Given the description of an element on the screen output the (x, y) to click on. 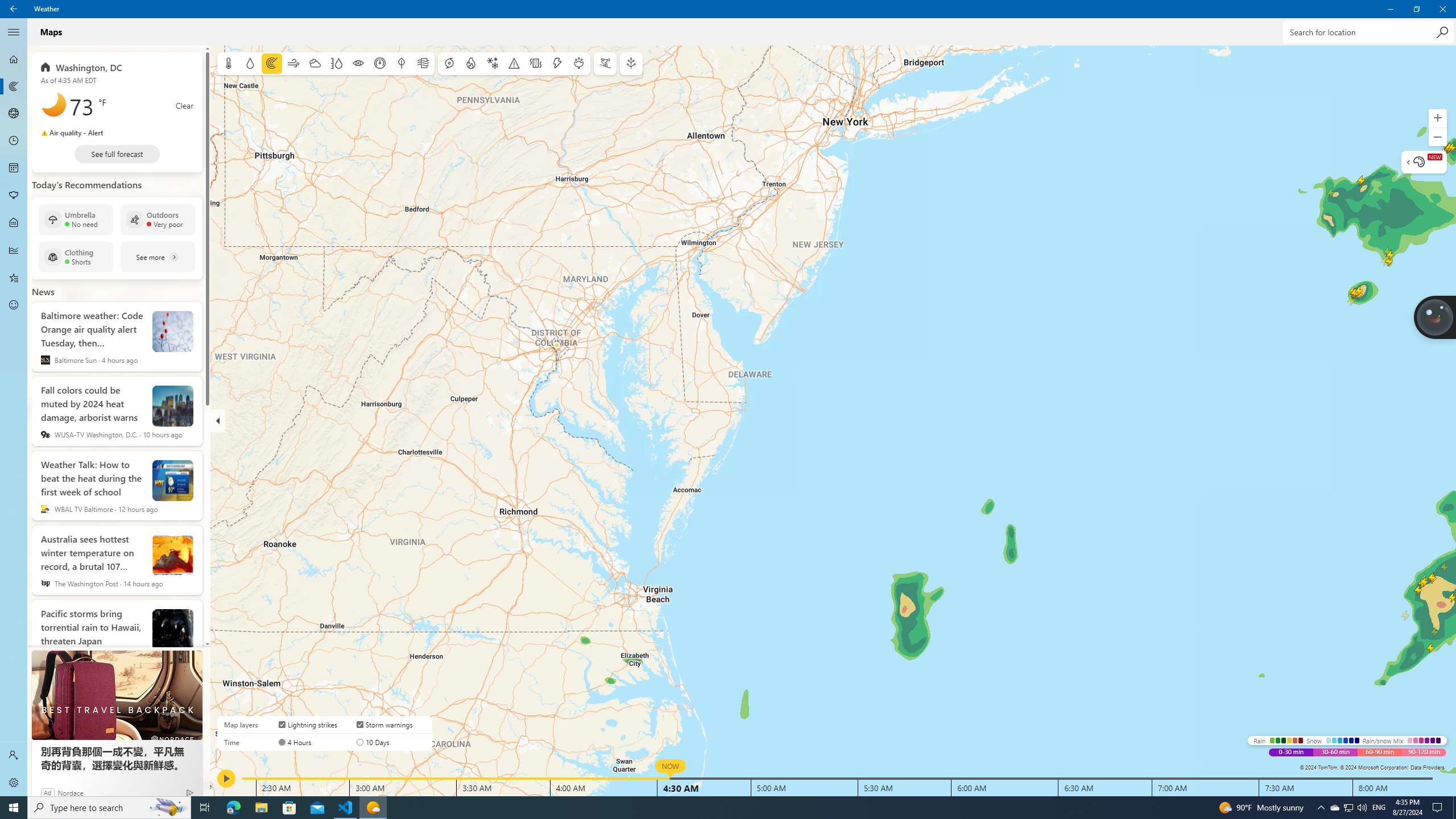
Search highlights icon opens search home window (167, 807)
User Promoted Notification Area (1347, 807)
Task View (204, 807)
Weather - 1 running window (373, 807)
Q2790: 100% (1361, 807)
Microsoft Edge (233, 807)
Life - Not Selected (13, 222)
Monthly Forecast - Not Selected (13, 167)
Favorites - Not Selected (13, 277)
Maps - Not Selected (1333, 807)
Microsoft Store (13, 85)
Pollen - Not Selected (289, 807)
3D Maps - Not Selected (13, 195)
Forecast - Not Selected (13, 113)
